Given the description of an element on the screen output the (x, y) to click on. 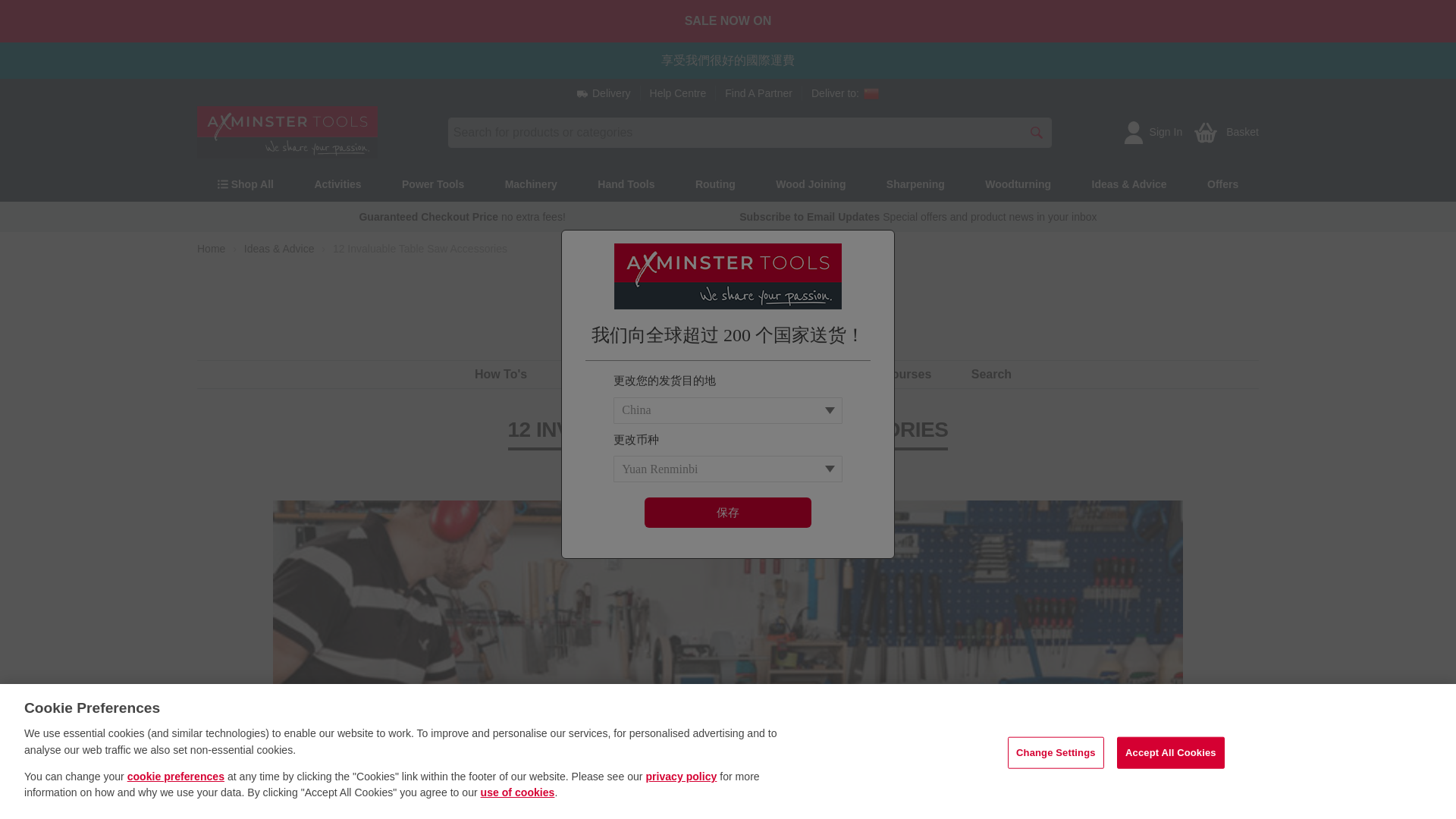
SALE NOW ON (727, 21)
Search (1036, 132)
Courses (906, 373)
Find A Partner (758, 92)
How To's (500, 373)
Clock (695, 468)
Delivery (603, 92)
Account Menu (1133, 132)
Go to Home Page (210, 248)
Search (991, 373)
Search (1036, 132)
Help Centre (677, 92)
Product Guides (612, 373)
Menu Icon (222, 184)
Axminster Tools (286, 132)
